Given the description of an element on the screen output the (x, y) to click on. 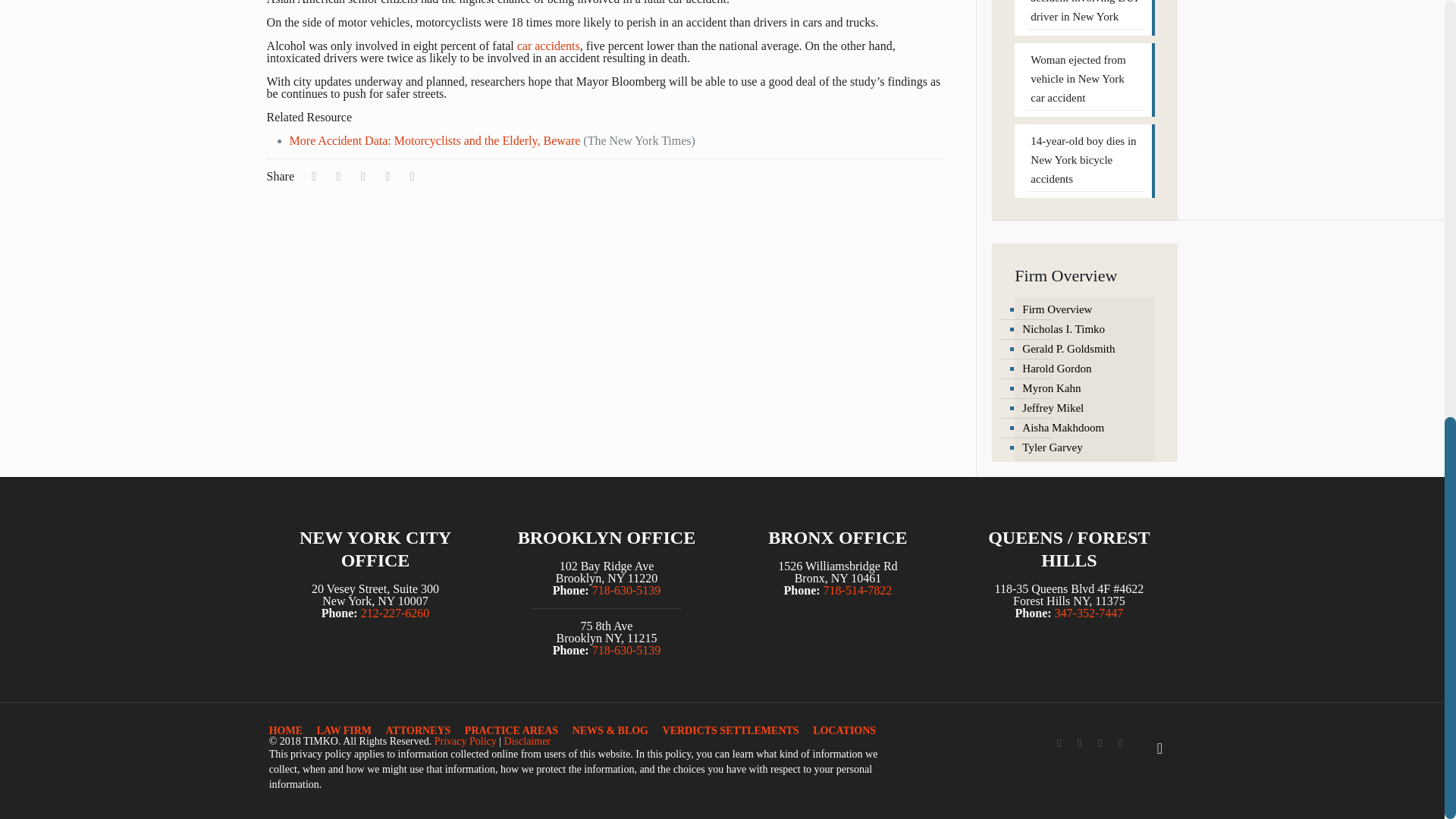
Facebook (1059, 743)
YouTube (1100, 743)
Instagram (1120, 743)
Twitter (1079, 743)
